Given the description of an element on the screen output the (x, y) to click on. 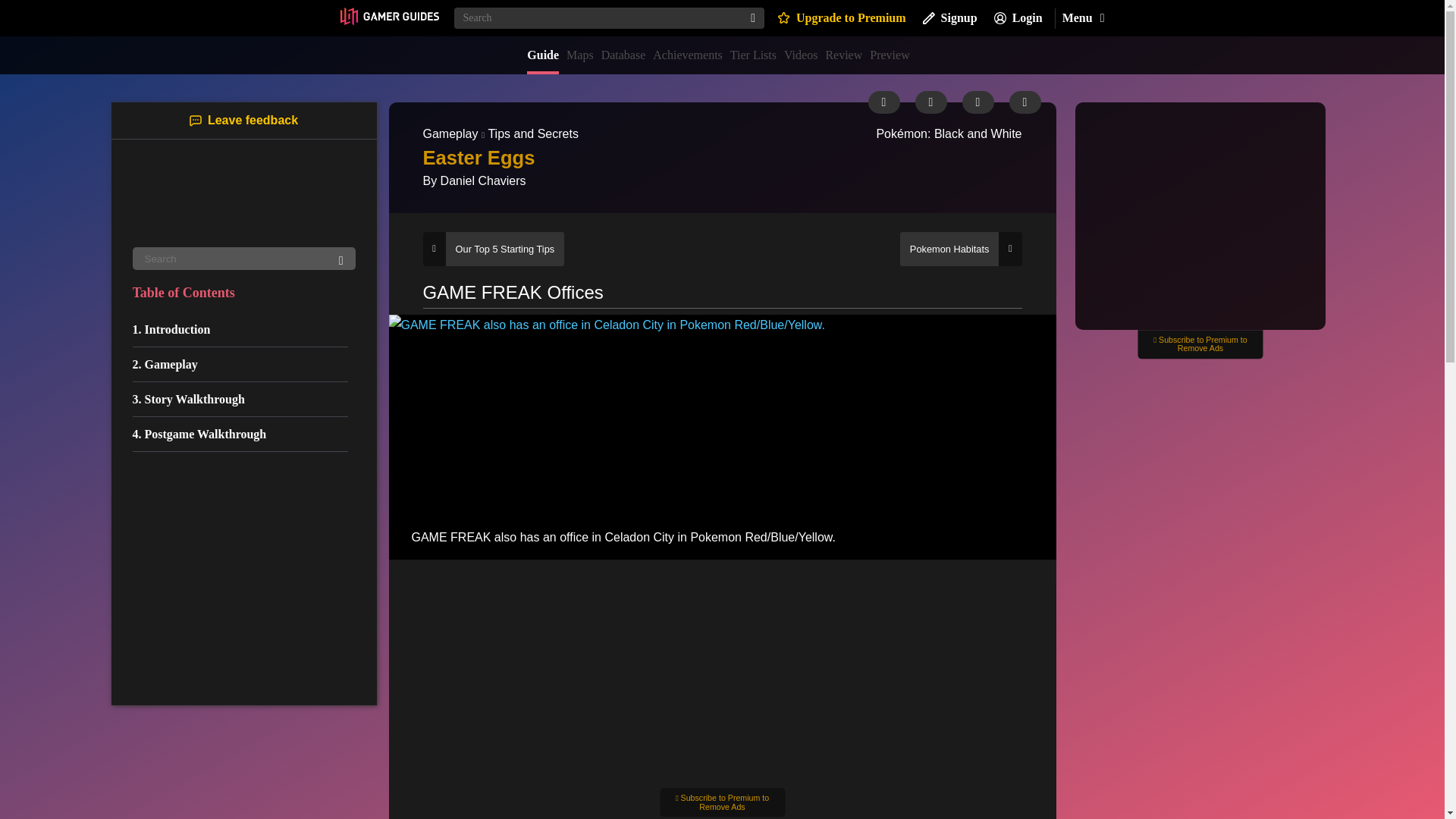
Signup (949, 18)
Guide information (883, 101)
Leave feedback (243, 120)
Favorite (1025, 101)
Home (388, 17)
Share (976, 101)
Main Menu (1082, 18)
Game logo (242, 196)
Login (1018, 18)
Download guide (930, 101)
